Given the description of an element on the screen output the (x, y) to click on. 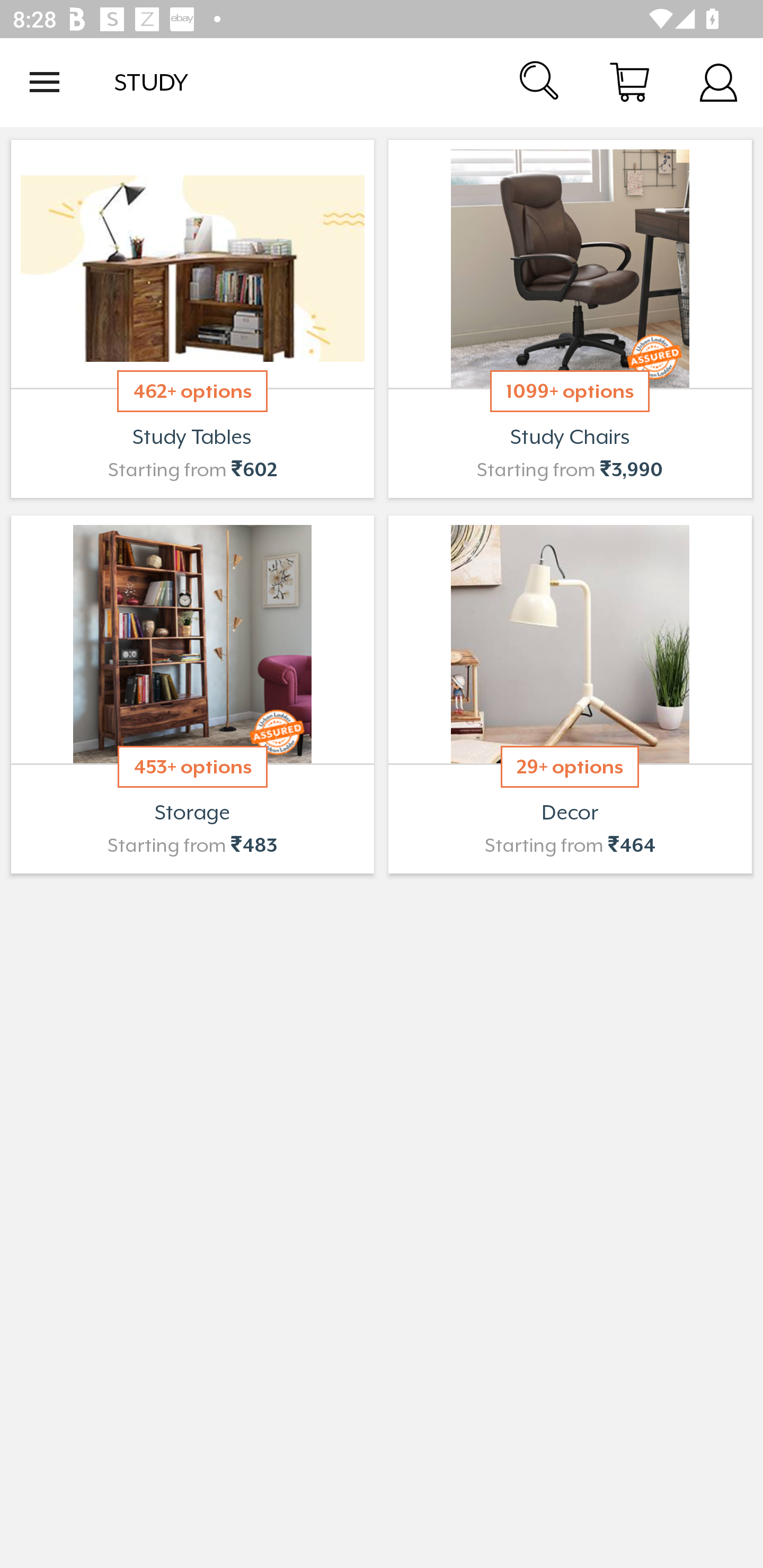
Open navigation drawer (44, 82)
Search (540, 81)
Cart (629, 81)
Account Details (718, 81)
462+ options Study Tables Starting from  ₹602 (191, 318)
1099+ options Study Chairs Starting from  ₹3,990 (570, 318)
453+ options Storage Starting from  ₹483 (191, 694)
29+ options Decor Starting from  ₹464 (570, 694)
